Given the description of an element on the screen output the (x, y) to click on. 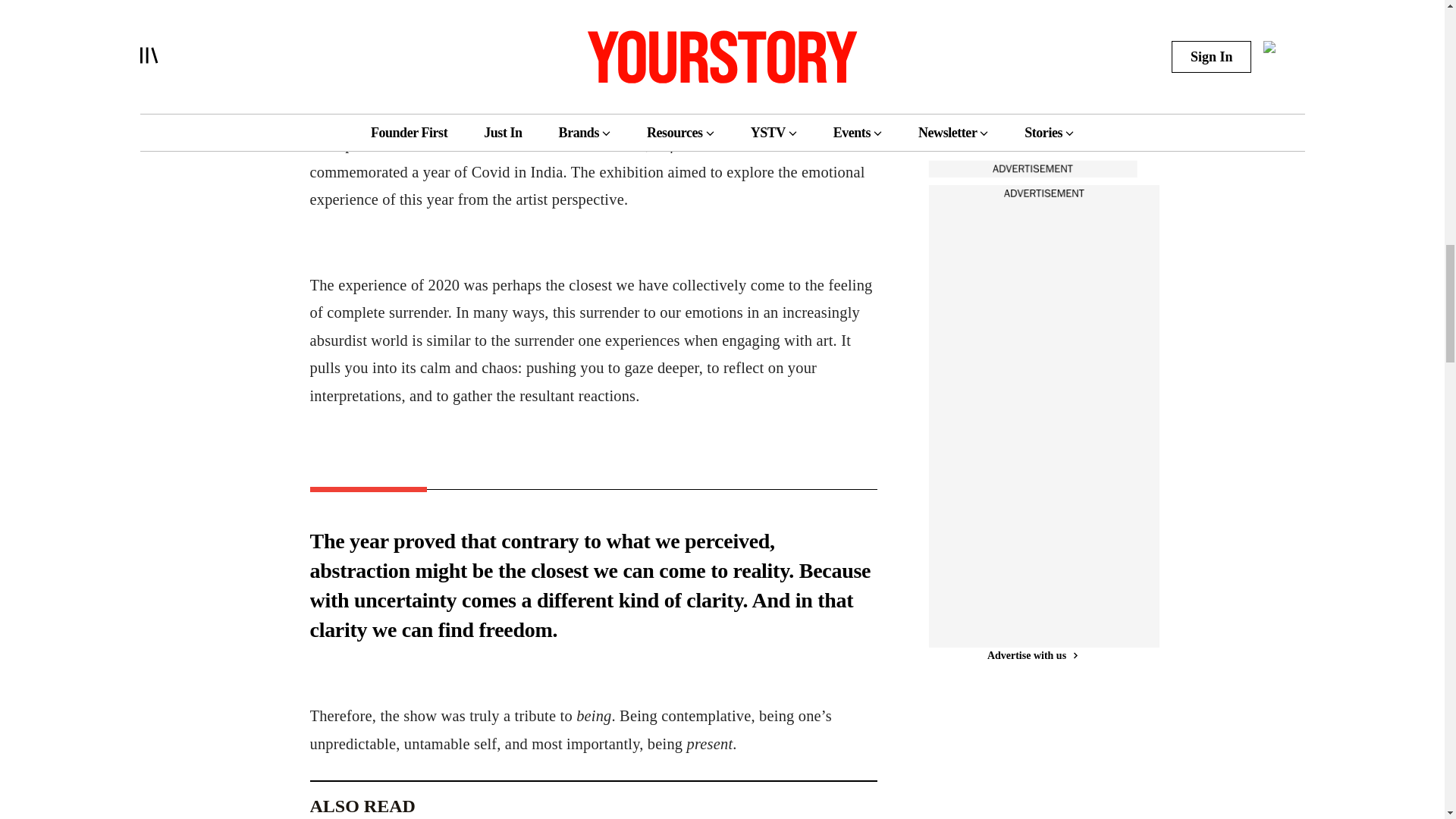
Advertise with us (1032, 168)
Advertise with us (1032, 655)
AI GEN (973, 75)
